Given the description of an element on the screen output the (x, y) to click on. 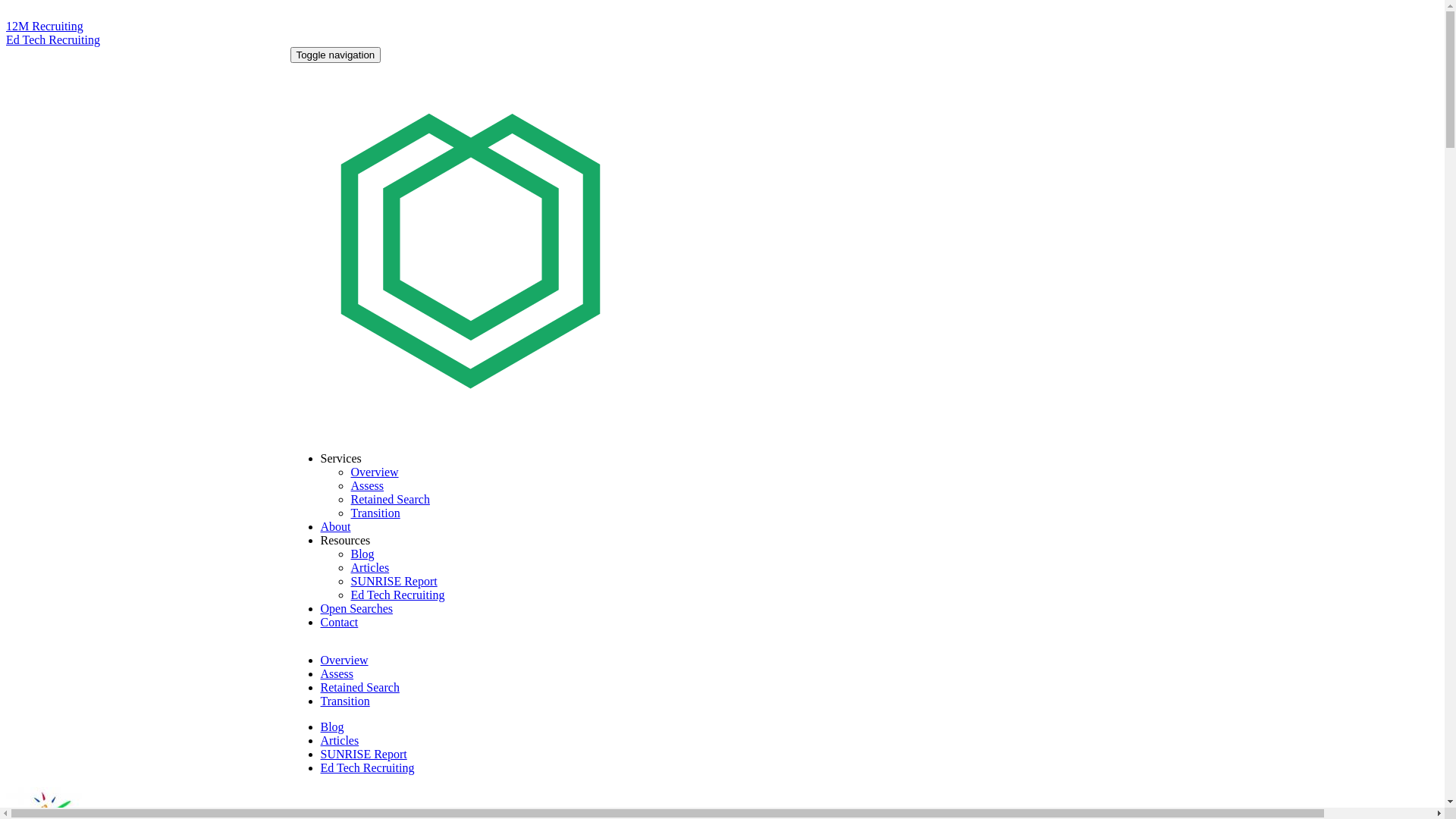
Transition Element type: text (374, 512)
Retained Search Element type: text (359, 686)
Transition Element type: text (344, 700)
Ed Tech Recruiting Element type: text (397, 594)
Articles Element type: text (369, 567)
Open Searches Element type: text (356, 608)
Overview Element type: text (343, 659)
Toggle navigation Element type: text (334, 54)
Skip to main content Element type: text (56, 6)
SUNRISE Report Element type: text (363, 753)
12M Recruiting Element type: text (44, 25)
Assess Element type: text (336, 673)
Blog Element type: text (331, 726)
Ed Tech Recruiting Element type: text (53, 39)
Overview Element type: text (374, 471)
Articles Element type: text (339, 740)
Contact Element type: text (338, 621)
Home Element type: hover (820, 432)
Ed Tech Recruiting Element type: text (367, 767)
SUNRISE Report Element type: text (393, 580)
Assess Element type: text (366, 485)
Blog Element type: text (361, 553)
Retained Search Element type: text (389, 498)
About Element type: text (335, 526)
